Given the description of an element on the screen output the (x, y) to click on. 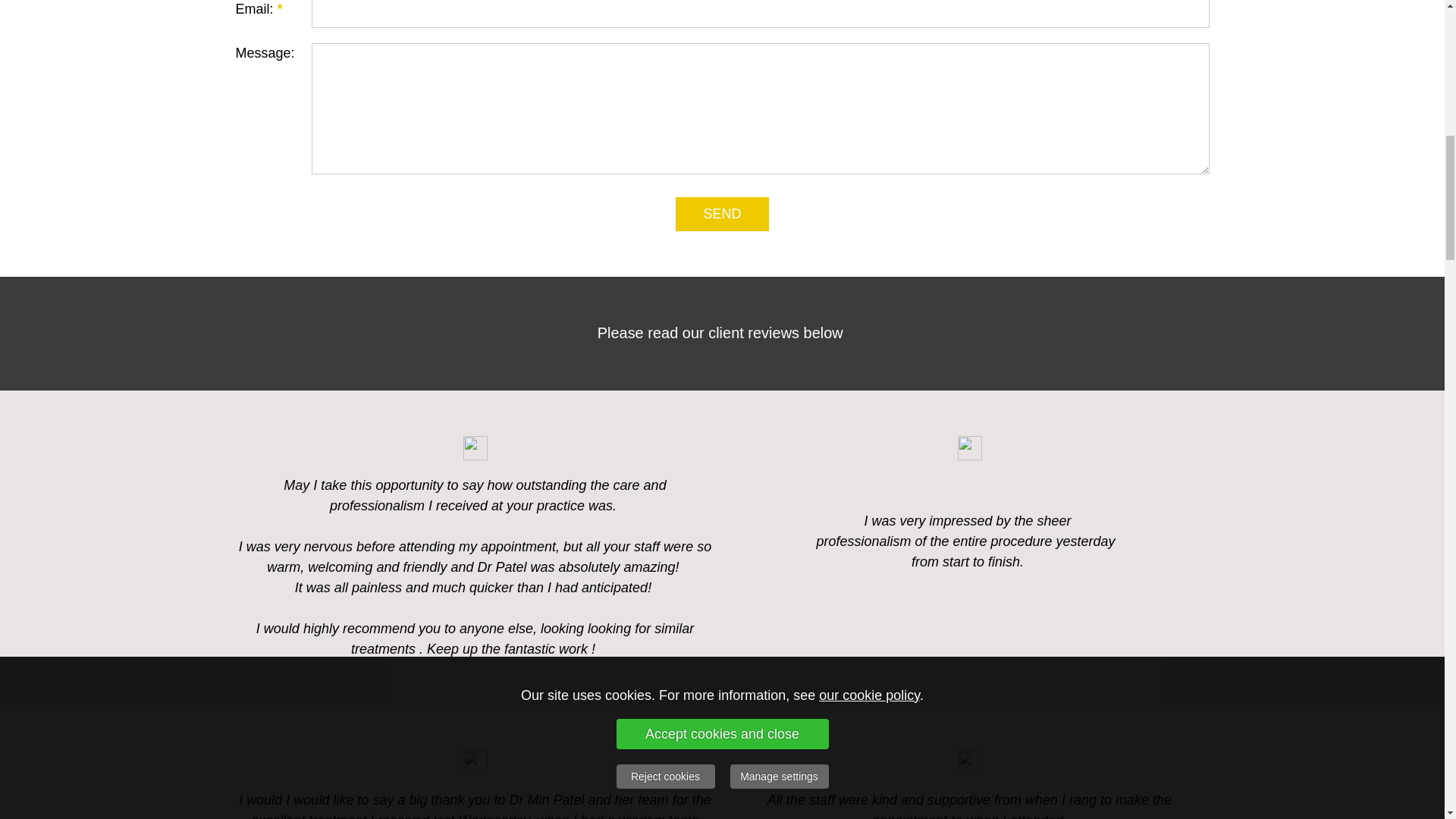
SEND (721, 213)
